Given the description of an element on the screen output the (x, y) to click on. 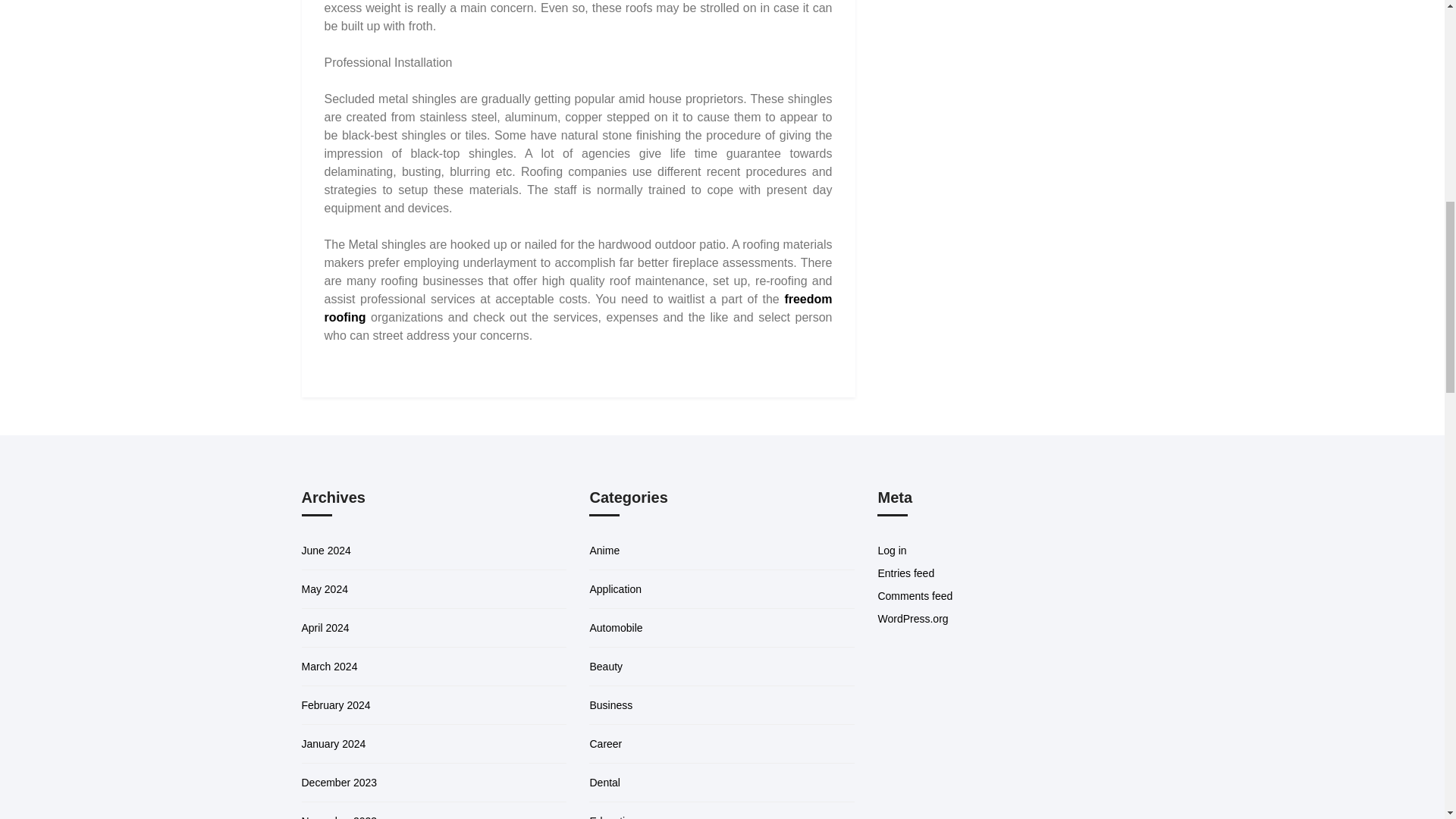
January 2024 (333, 743)
June 2024 (325, 550)
May 2024 (324, 589)
November 2023 (339, 816)
April 2024 (325, 627)
freedom roofing (578, 307)
February 2024 (336, 705)
December 2023 (339, 782)
March 2024 (329, 666)
